Given the description of an element on the screen output the (x, y) to click on. 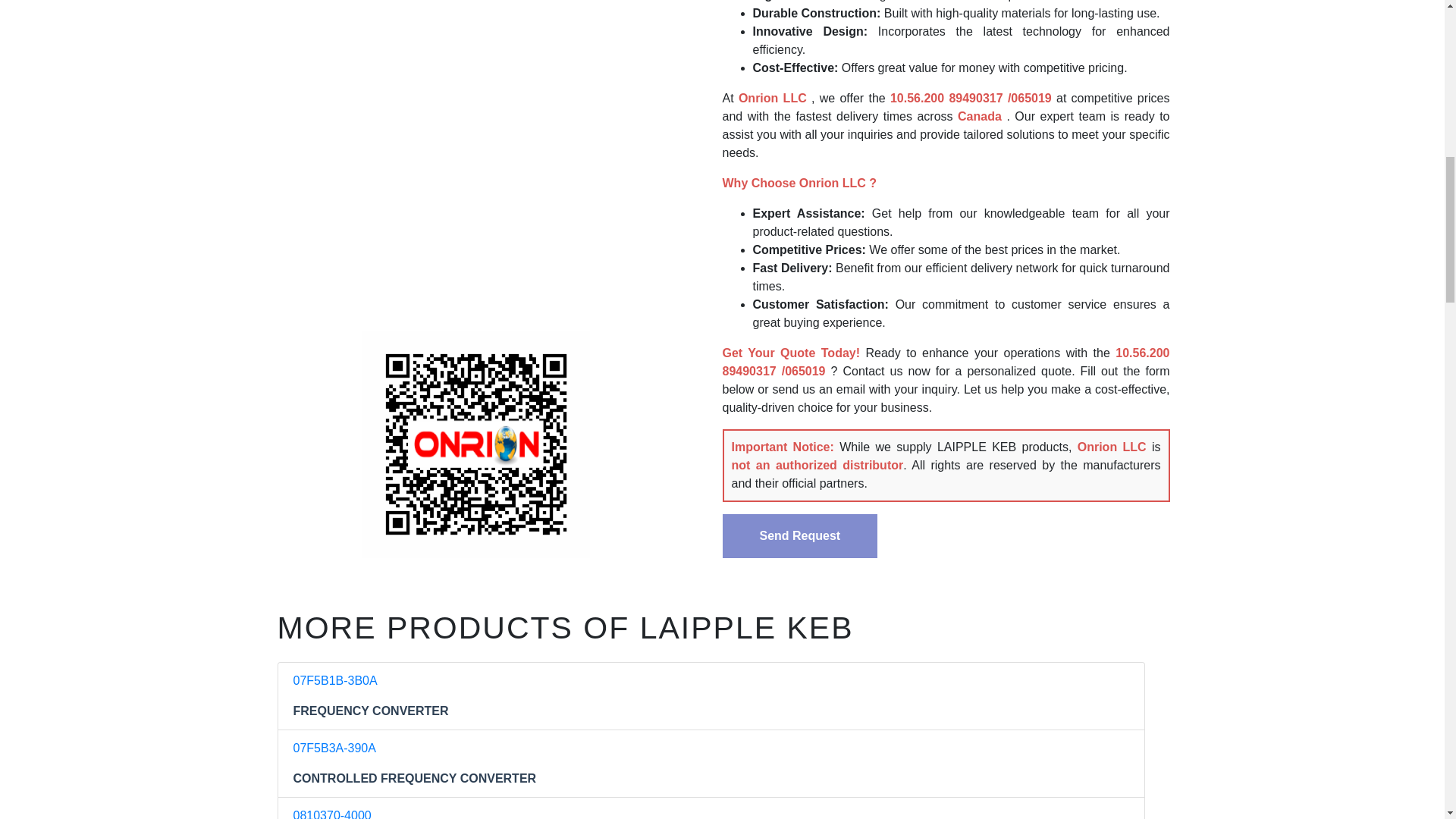
07F5B3A-390A (333, 748)
Send Request (799, 535)
07F5B1B-3B0A (334, 680)
0810370-4000 (331, 814)
